Given the description of an element on the screen output the (x, y) to click on. 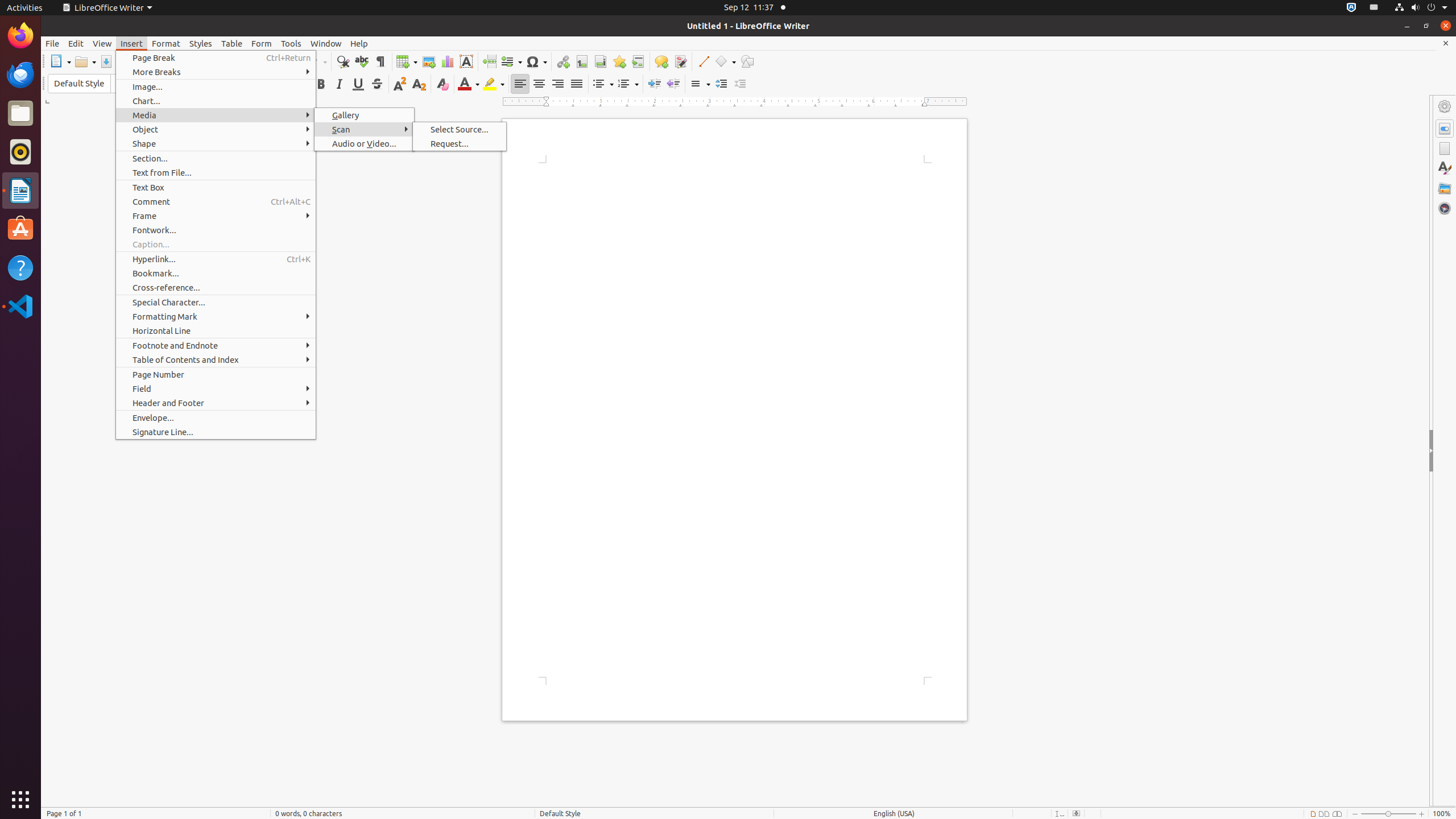
LibreOffice Writer Element type: menu (106, 7)
Field Element type: menu (215, 388)
Page Break Element type: push-button (489, 61)
Line Element type: toggle-button (702, 61)
Object Element type: menu (215, 129)
